Given the description of an element on the screen output the (x, y) to click on. 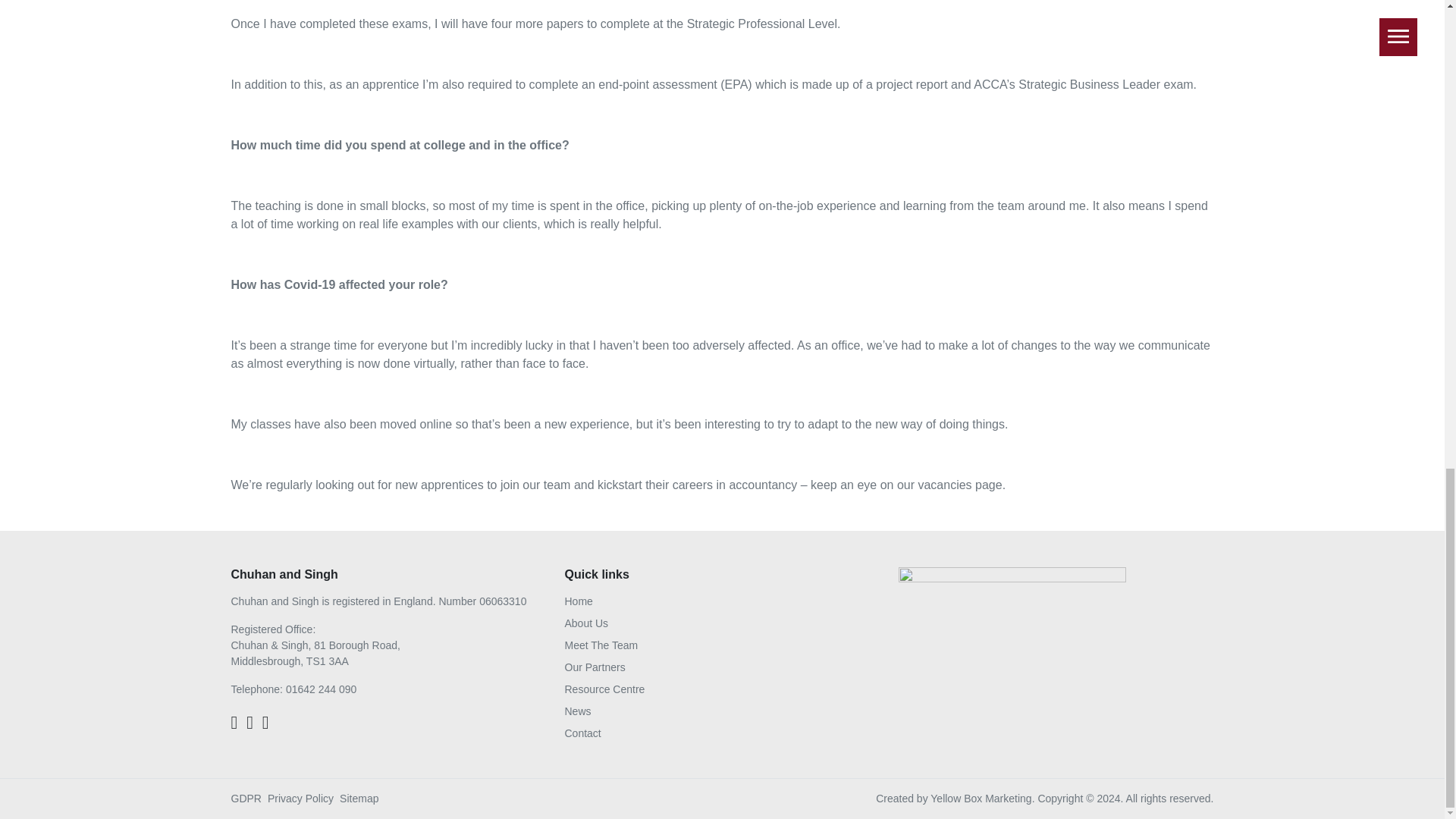
About Us (586, 623)
News (577, 711)
Sitemap (358, 798)
Home (578, 601)
Yellow Box Marketing (980, 798)
Privacy Policy (300, 798)
Meet The Team (600, 645)
Our Partners (594, 666)
Contact (581, 733)
Resource Centre (604, 689)
